Given the description of an element on the screen output the (x, y) to click on. 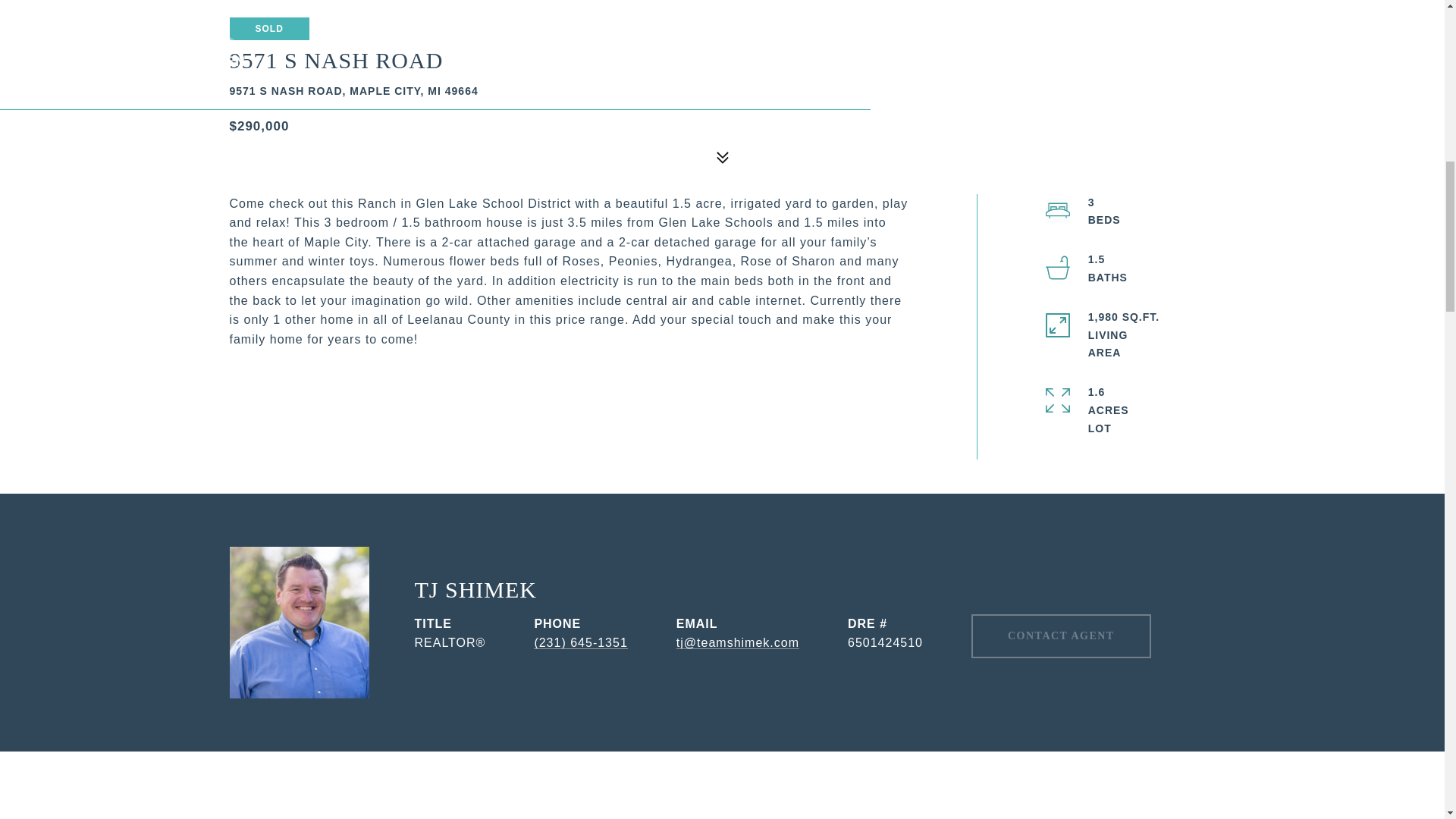
CONTACT AGENT (1061, 636)
